Given the description of an element on the screen output the (x, y) to click on. 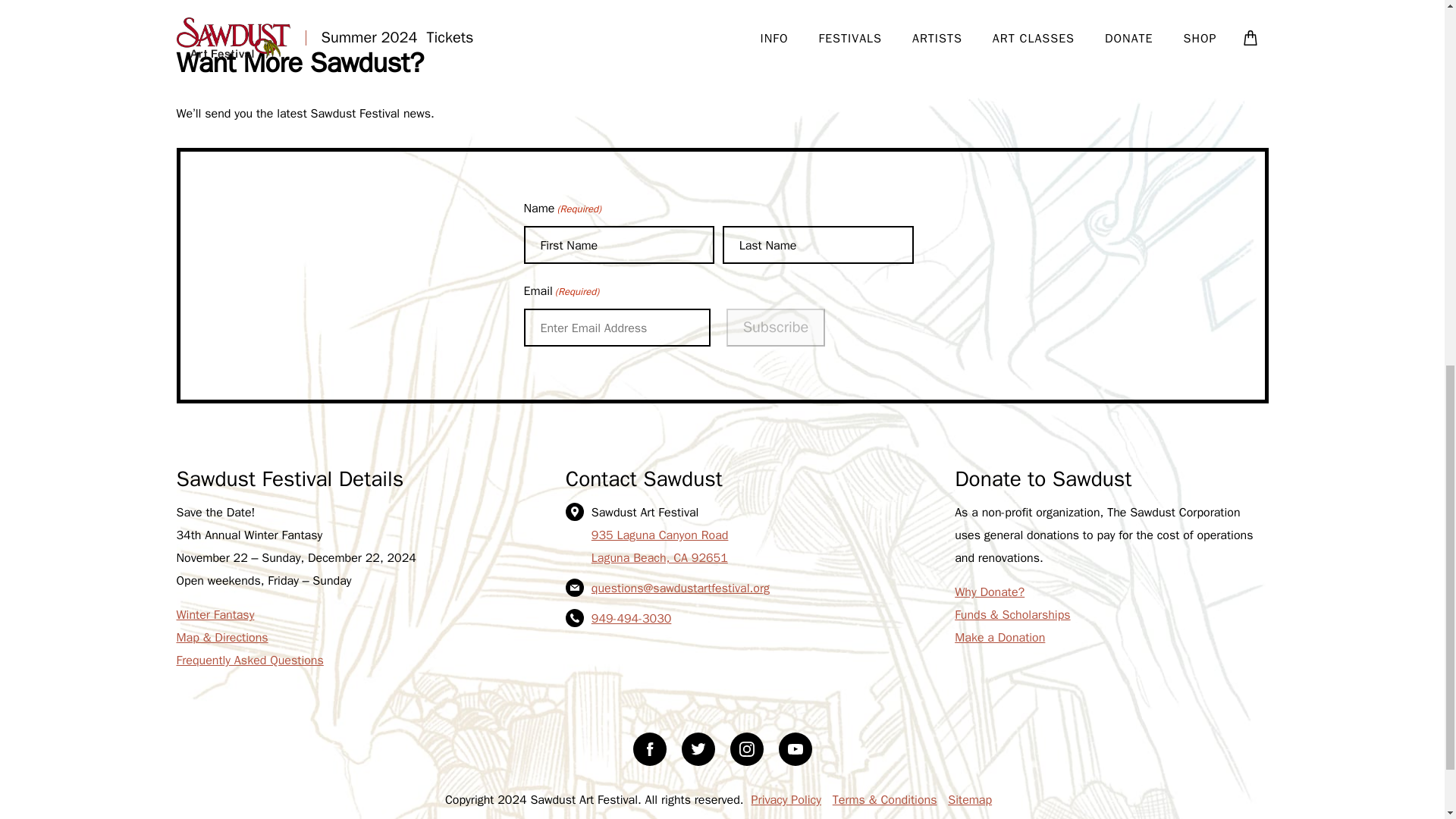
Subscribe (775, 327)
